Given the description of an element on the screen output the (x, y) to click on. 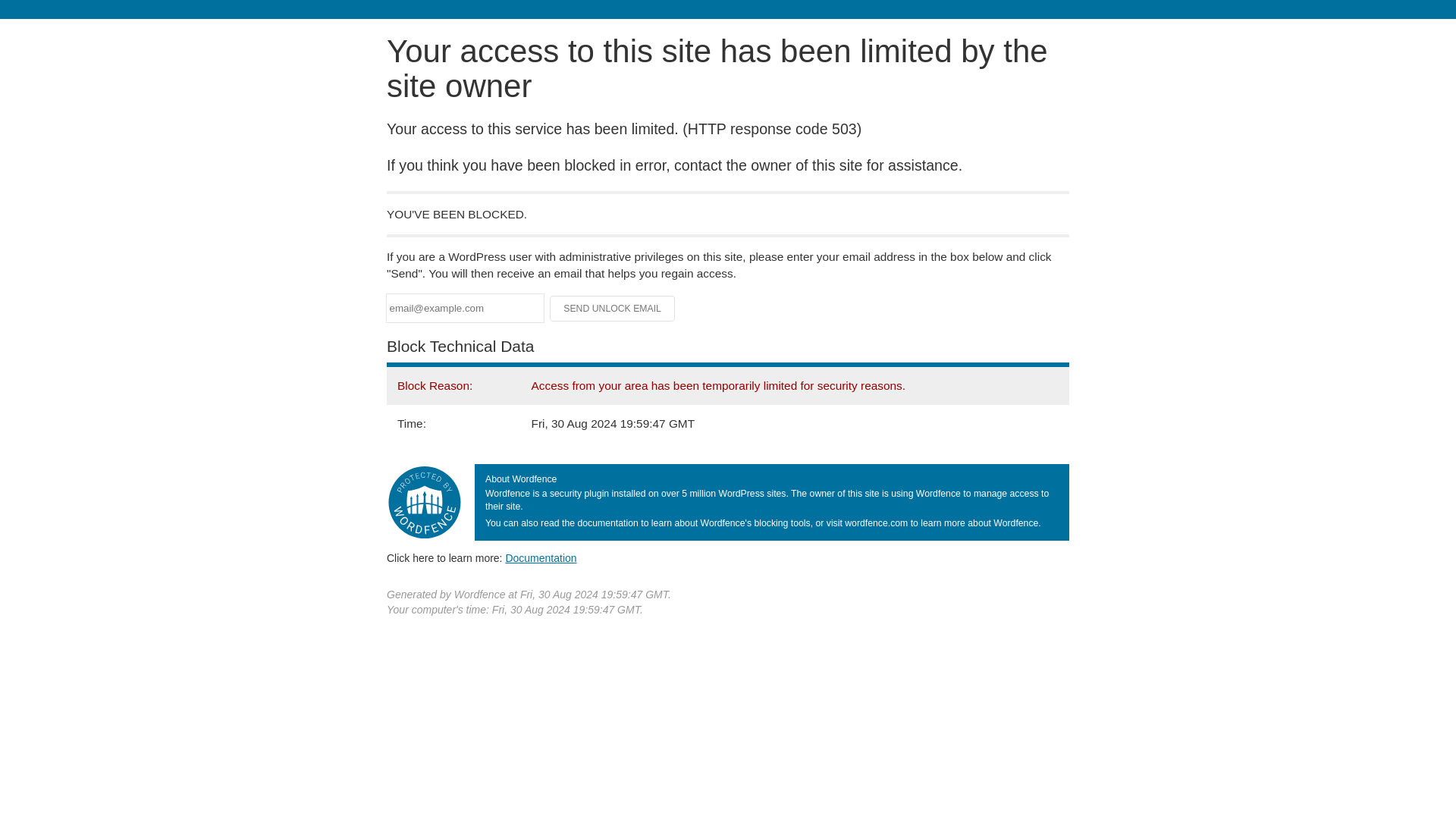
Documentation (540, 558)
Send Unlock Email (612, 308)
Send Unlock Email (612, 308)
